Given the description of an element on the screen output the (x, y) to click on. 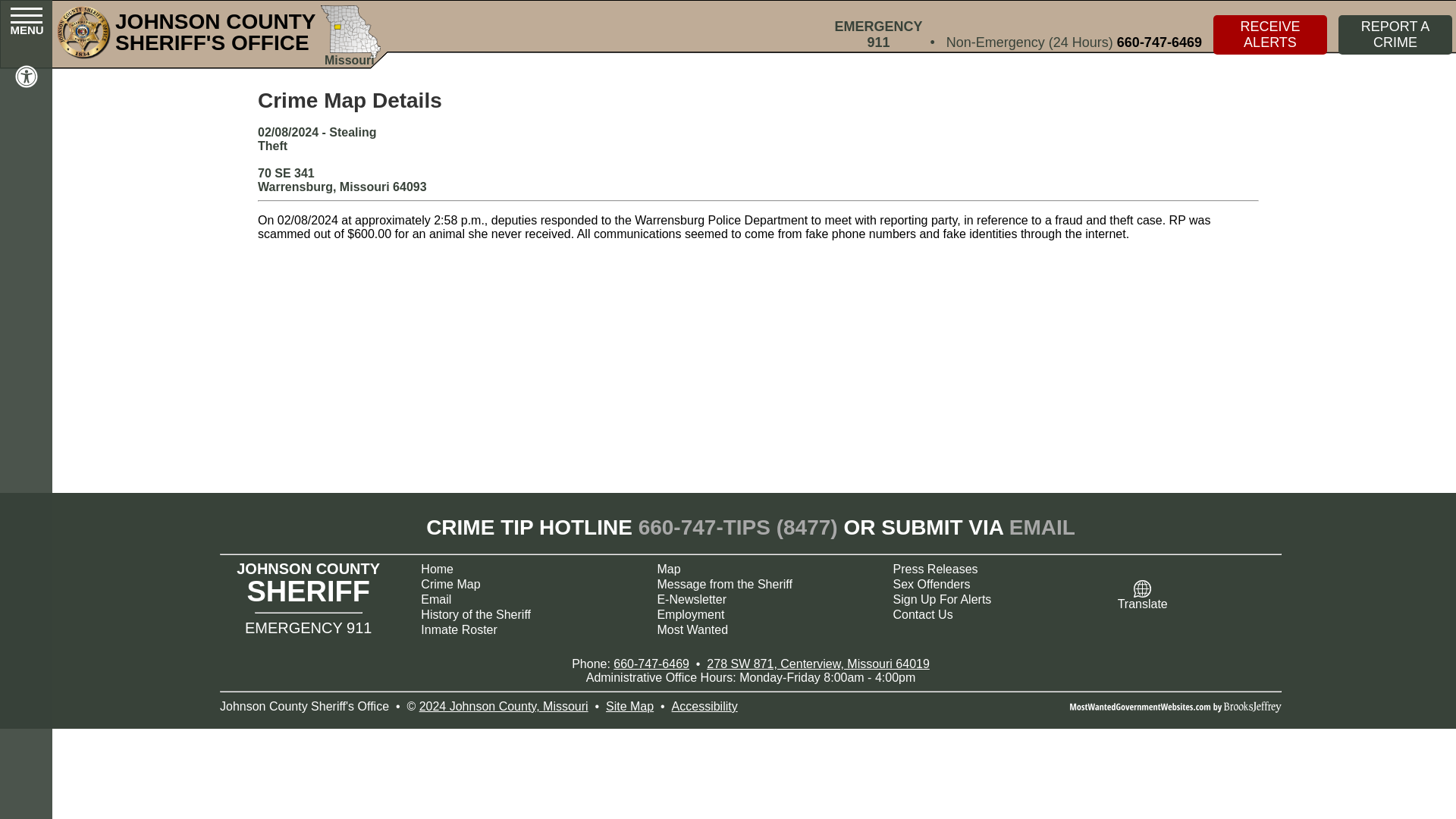
Employment (761, 614)
Sex Offenders (999, 584)
Press Releases (999, 569)
EMERGENCY 911 (877, 34)
Home (525, 569)
Crime Map (525, 584)
660-747-6469 (1159, 42)
Sign Up For Alerts (999, 599)
Email (525, 599)
REPORT A CRIME (1394, 34)
Most Wanted (761, 630)
EMAIL (1042, 526)
RECEIVE ALERTS (1269, 34)
